Given the description of an element on the screen output the (x, y) to click on. 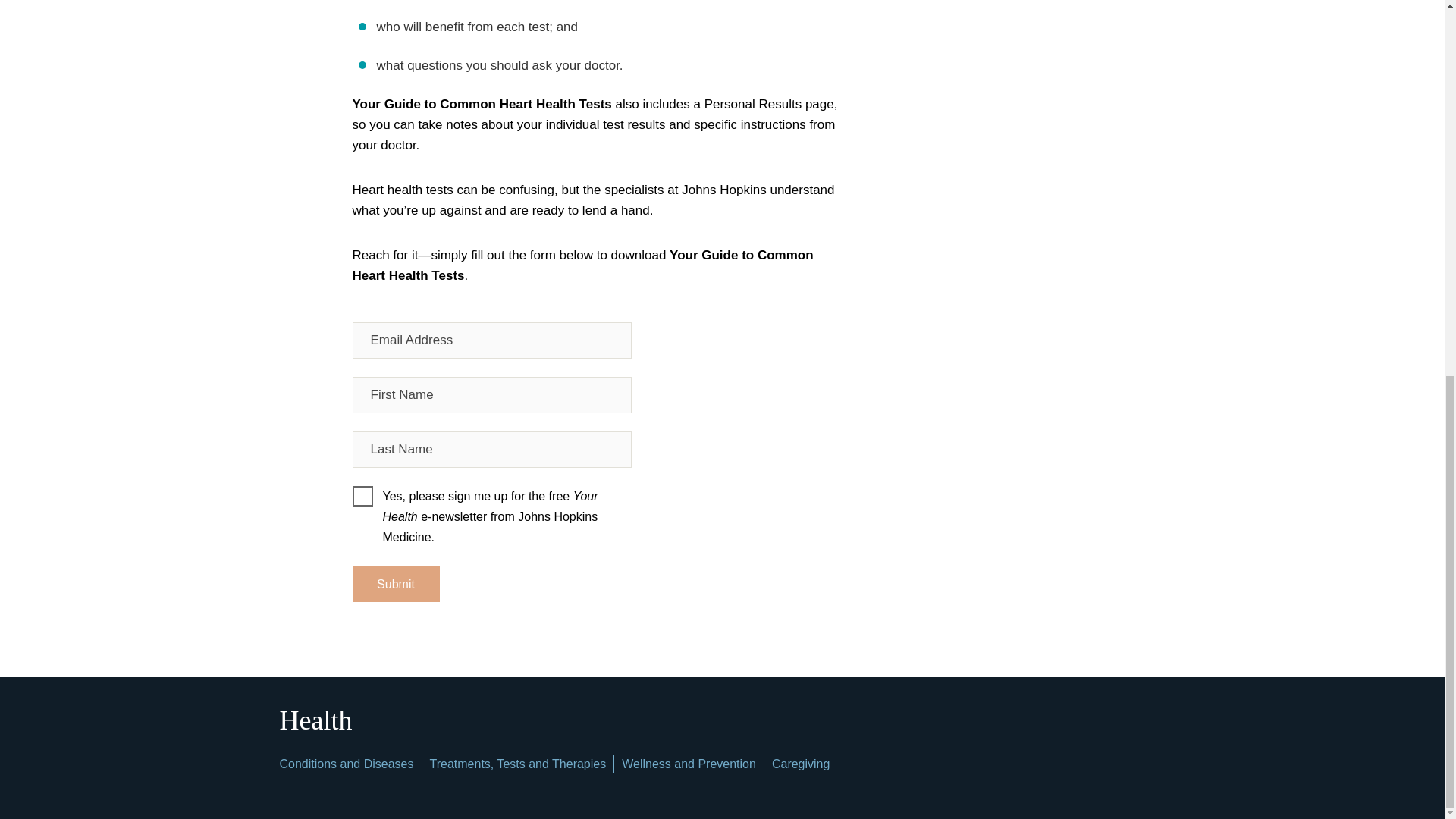
Submit (395, 583)
Treatments, Tests and Therapies (517, 763)
Conditions and Diseases (346, 763)
